Given the description of an element on the screen output the (x, y) to click on. 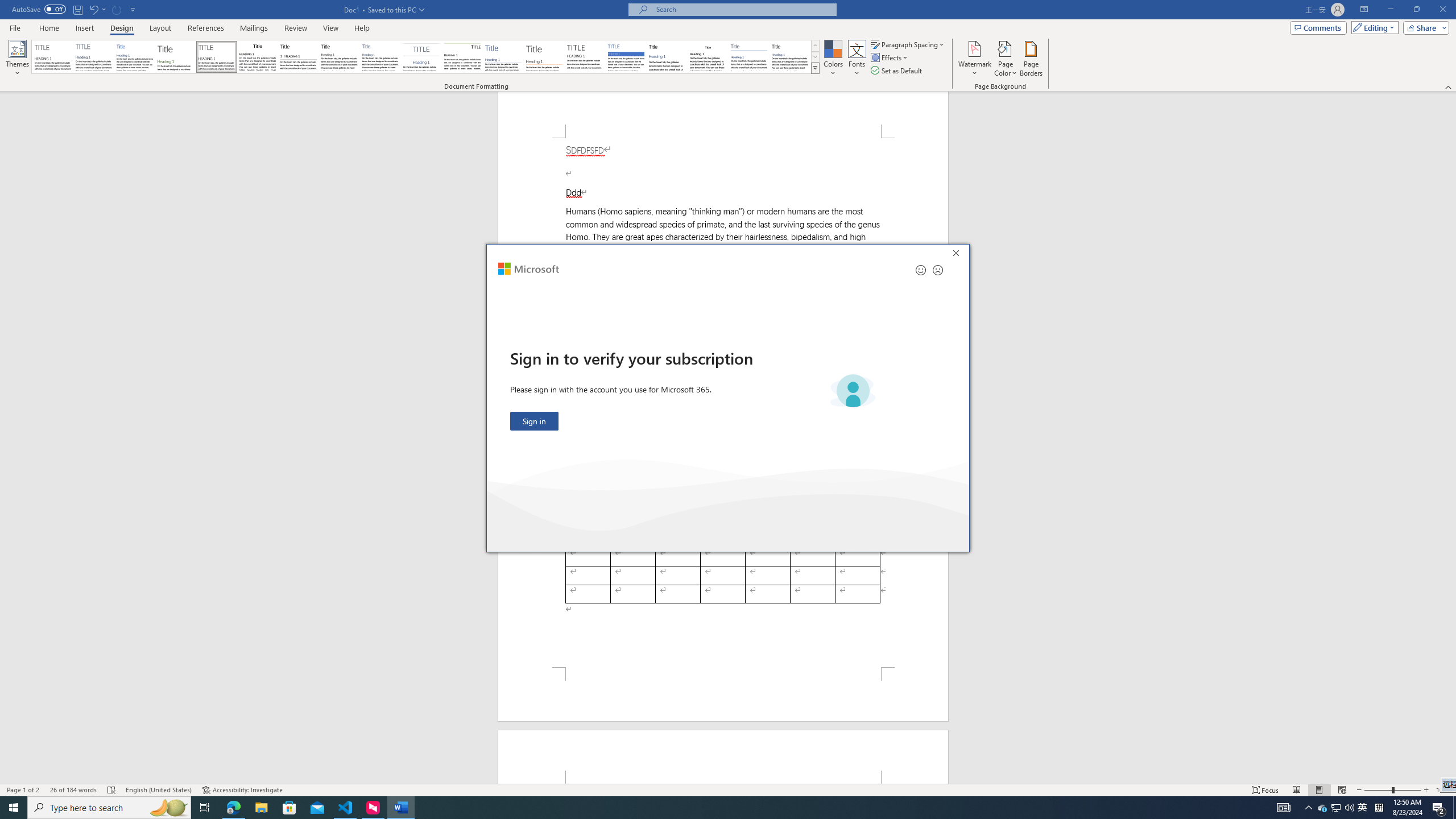
Word 2013 (790, 56)
Themes (17, 58)
Basic (Stylish) (175, 56)
Word (666, 56)
